Given the description of an element on the screen output the (x, y) to click on. 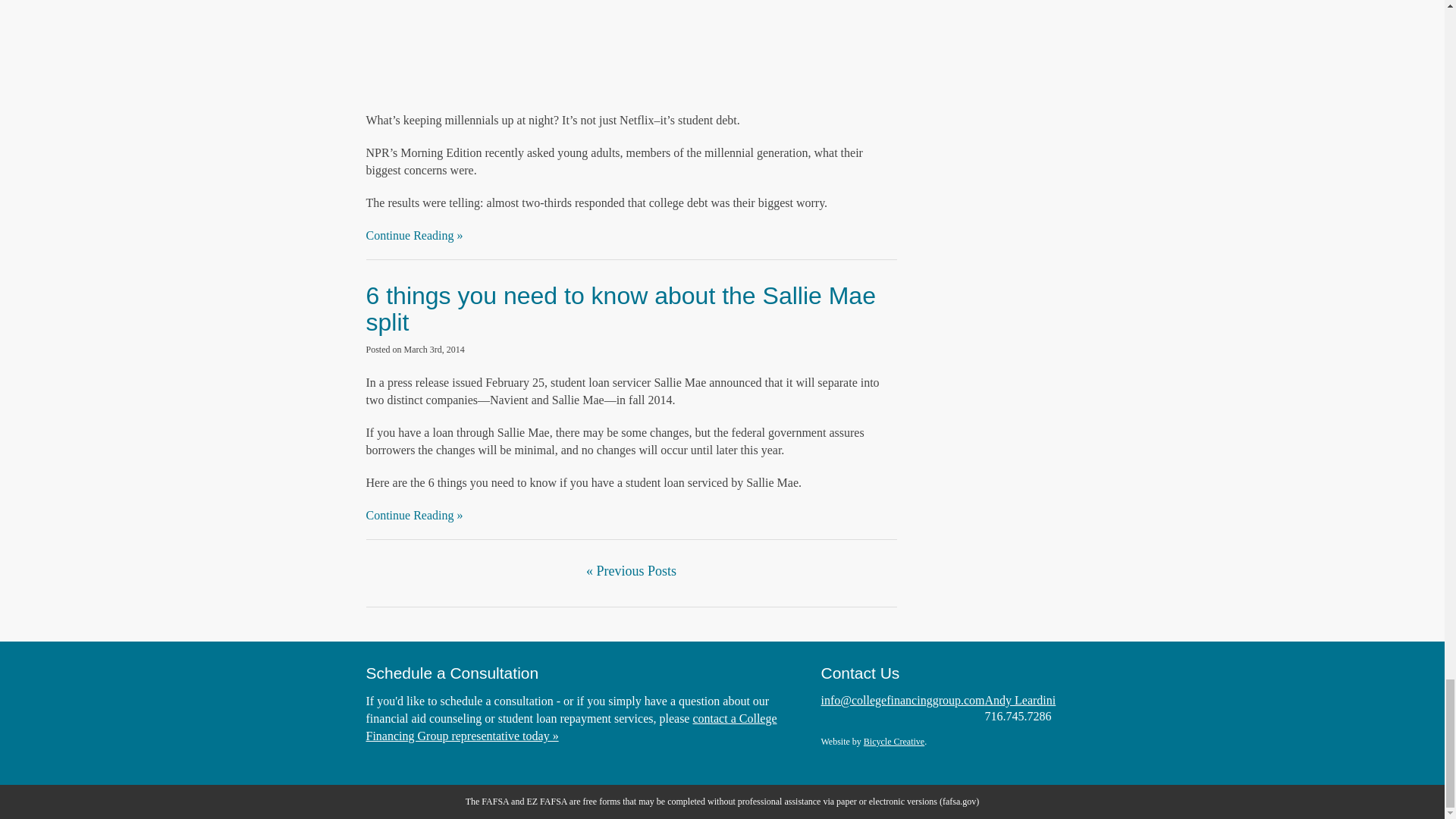
6 things you need to know about the Sallie Mae split (620, 308)
Read more (620, 308)
Schedule a Consultation (451, 672)
